Given the description of an element on the screen output the (x, y) to click on. 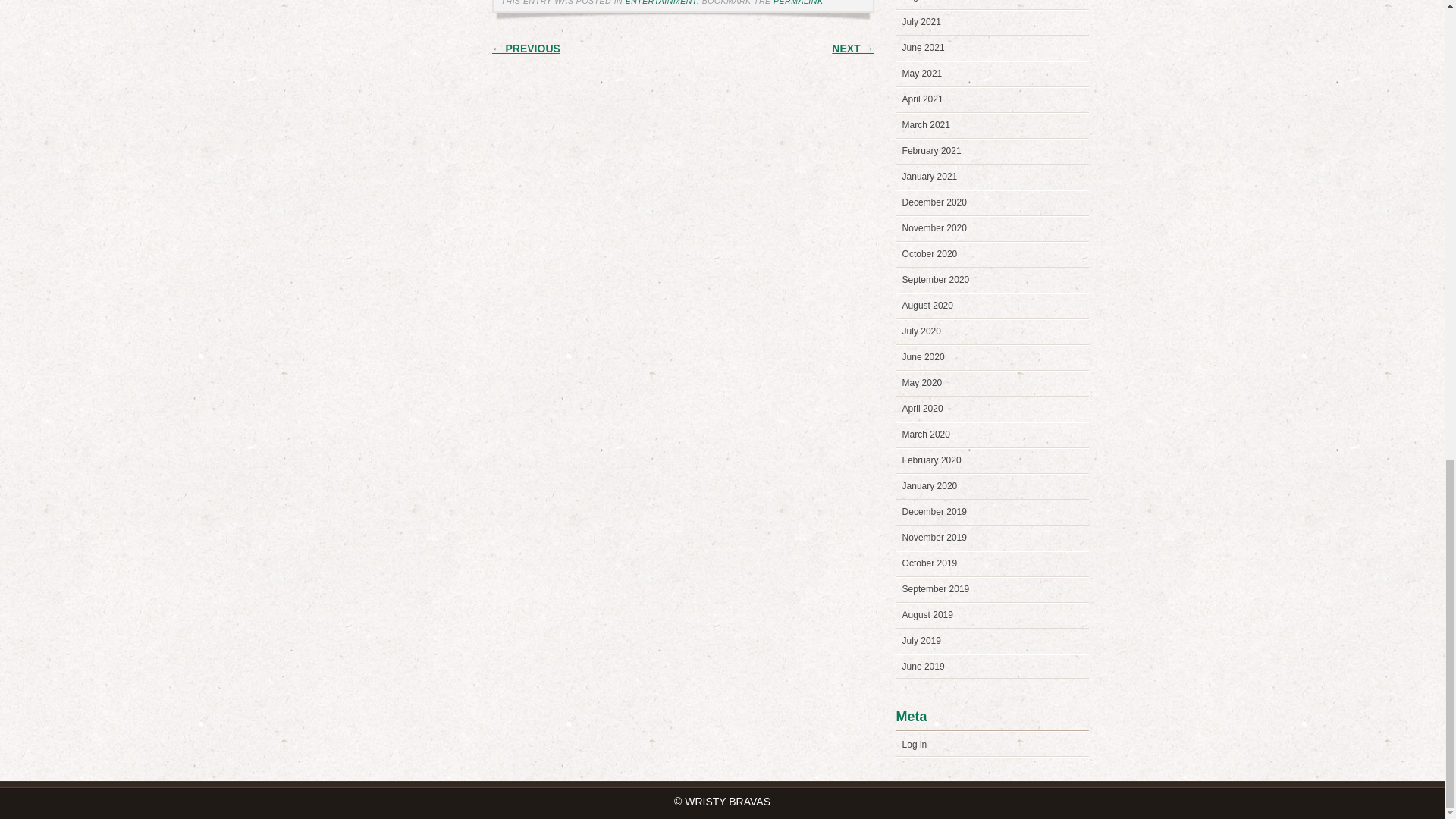
PERMALINK (797, 2)
ENTERTAINMENT (661, 2)
